Given the description of an element on the screen output the (x, y) to click on. 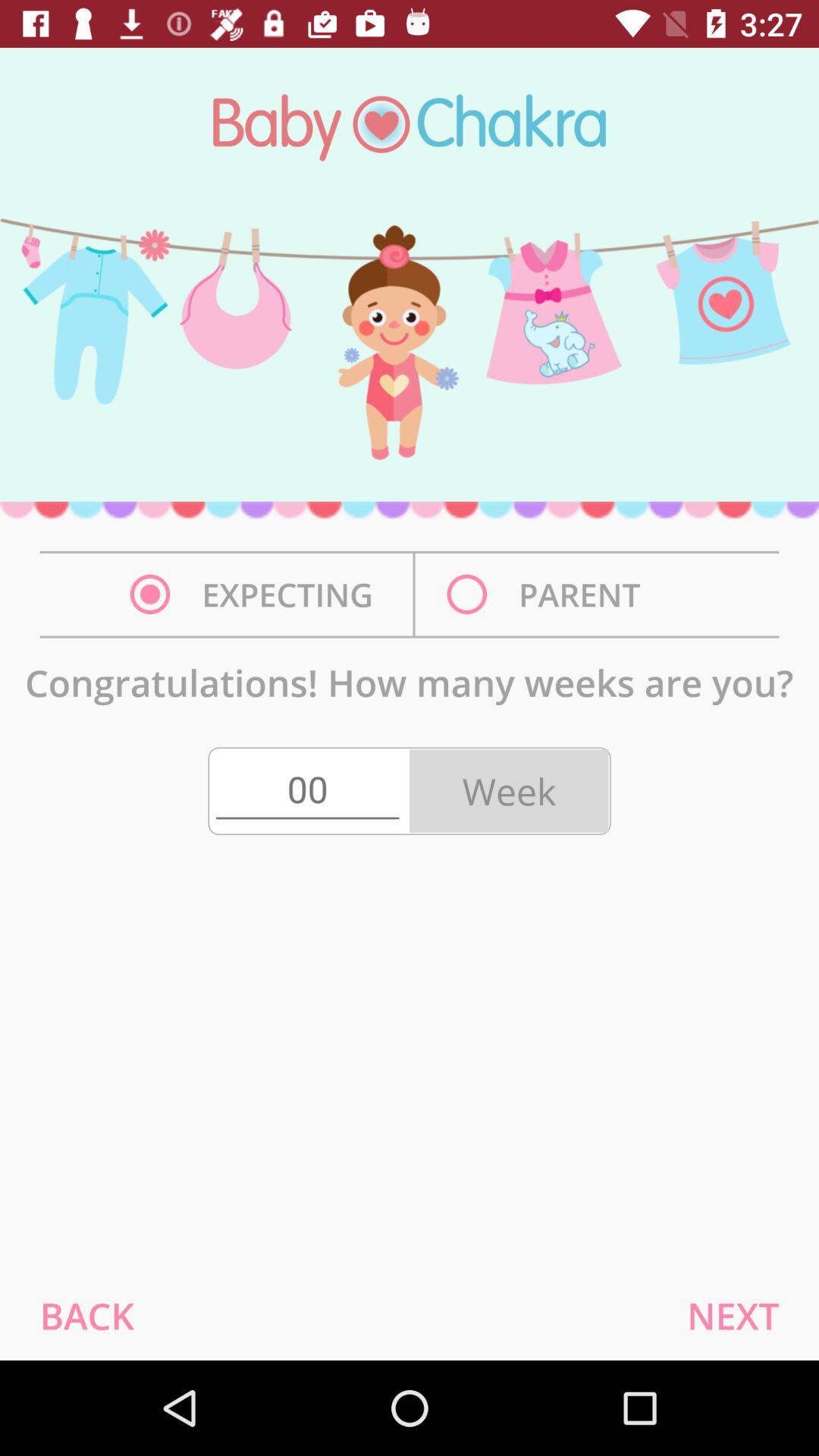
swipe until the next icon (733, 1315)
